Given the description of an element on the screen output the (x, y) to click on. 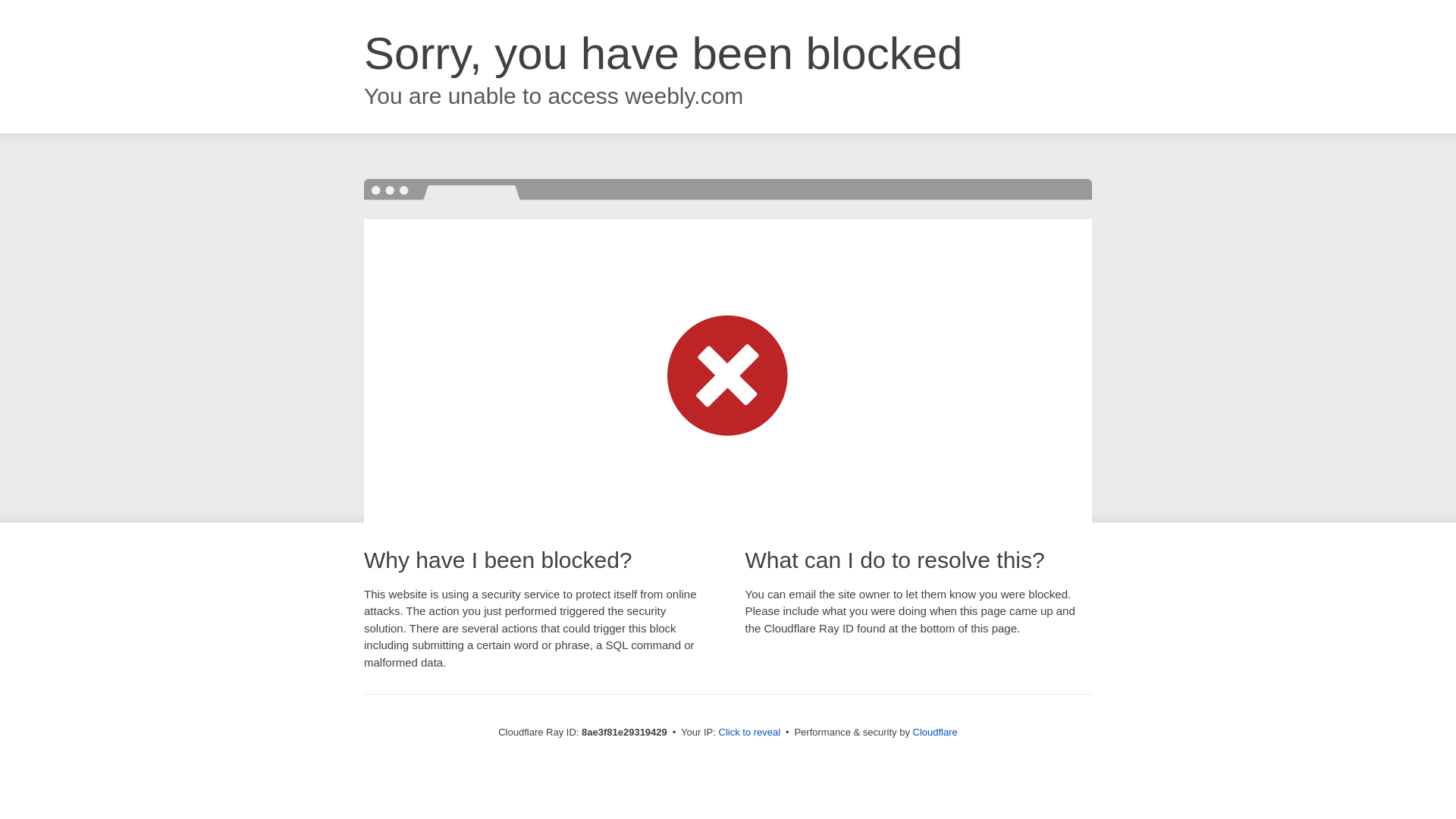
Cloudflare (935, 731)
Click to reveal (749, 732)
